Given the description of an element on the screen output the (x, y) to click on. 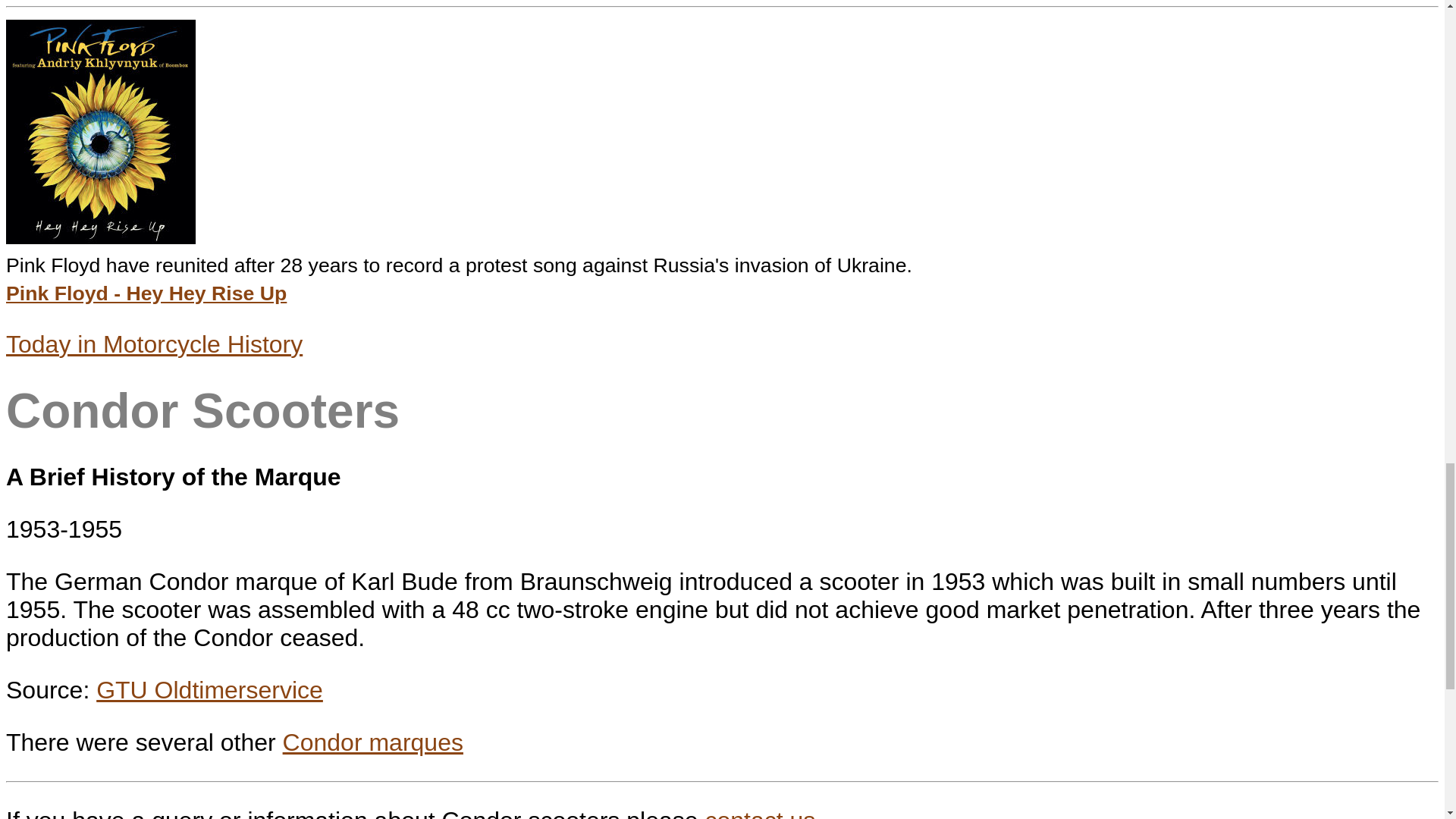
Similar Names (372, 741)
Pink Floyd - Hey Hey Rise Up (145, 292)
Today in Motorcycle History (153, 343)
